Given the description of an element on the screen output the (x, y) to click on. 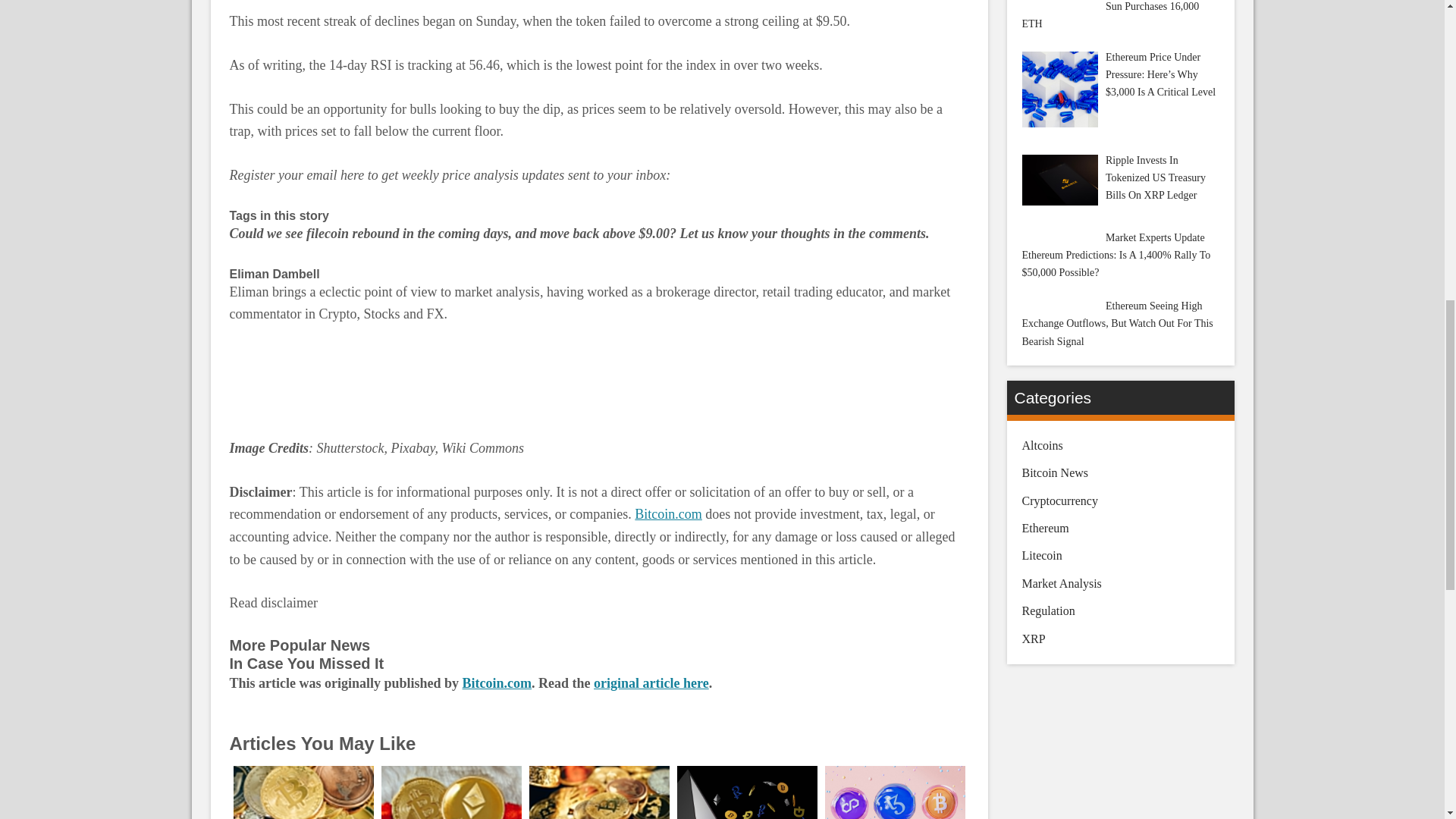
Bitcoin.com (497, 683)
Bitcoin.com (667, 513)
original article here (651, 683)
